Given the description of an element on the screen output the (x, y) to click on. 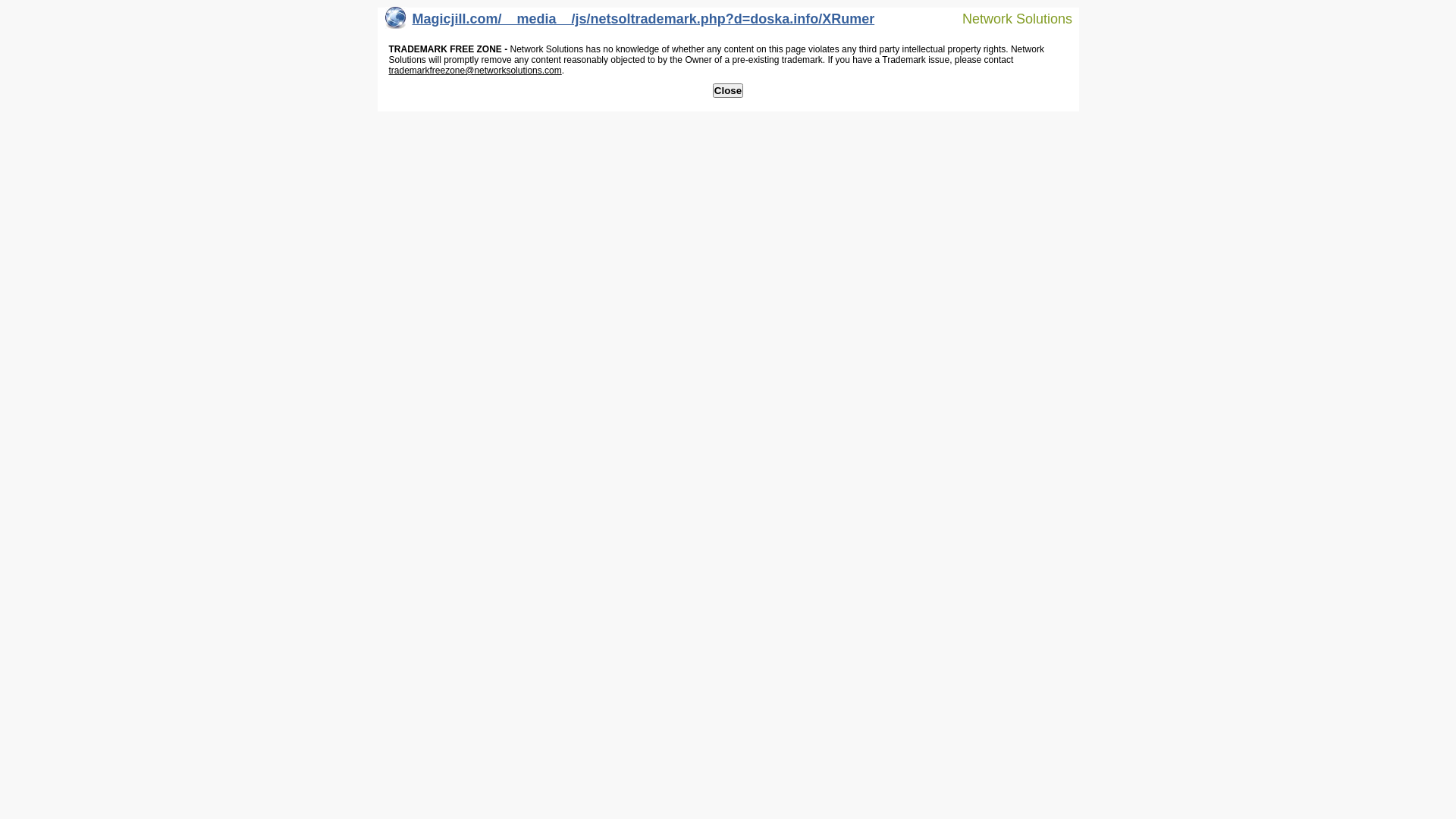
Network Solutions Element type: text (1007, 17)
trademarkfreezone@networksolutions.com Element type: text (474, 70)
Close Element type: text (727, 90)
